Given the description of an element on the screen output the (x, y) to click on. 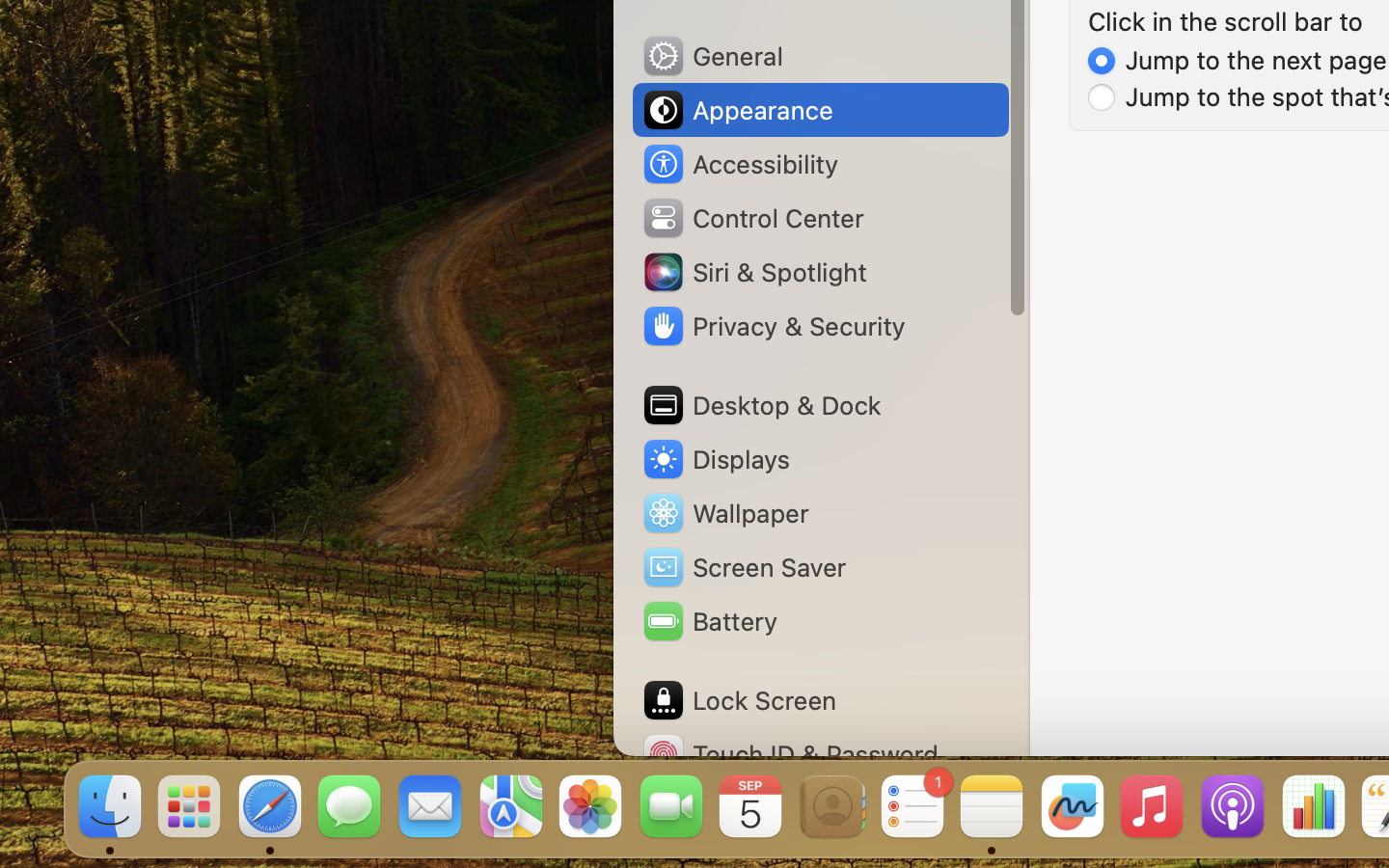
Appearance Element type: AXStaticText (736, 109)
Click in the scroll bar to Element type: AXStaticText (1225, 20)
Accessibility Element type: AXStaticText (739, 163)
Privacy & Security Element type: AXStaticText (772, 325)
General Element type: AXStaticText (711, 55)
